Given the description of an element on the screen output the (x, y) to click on. 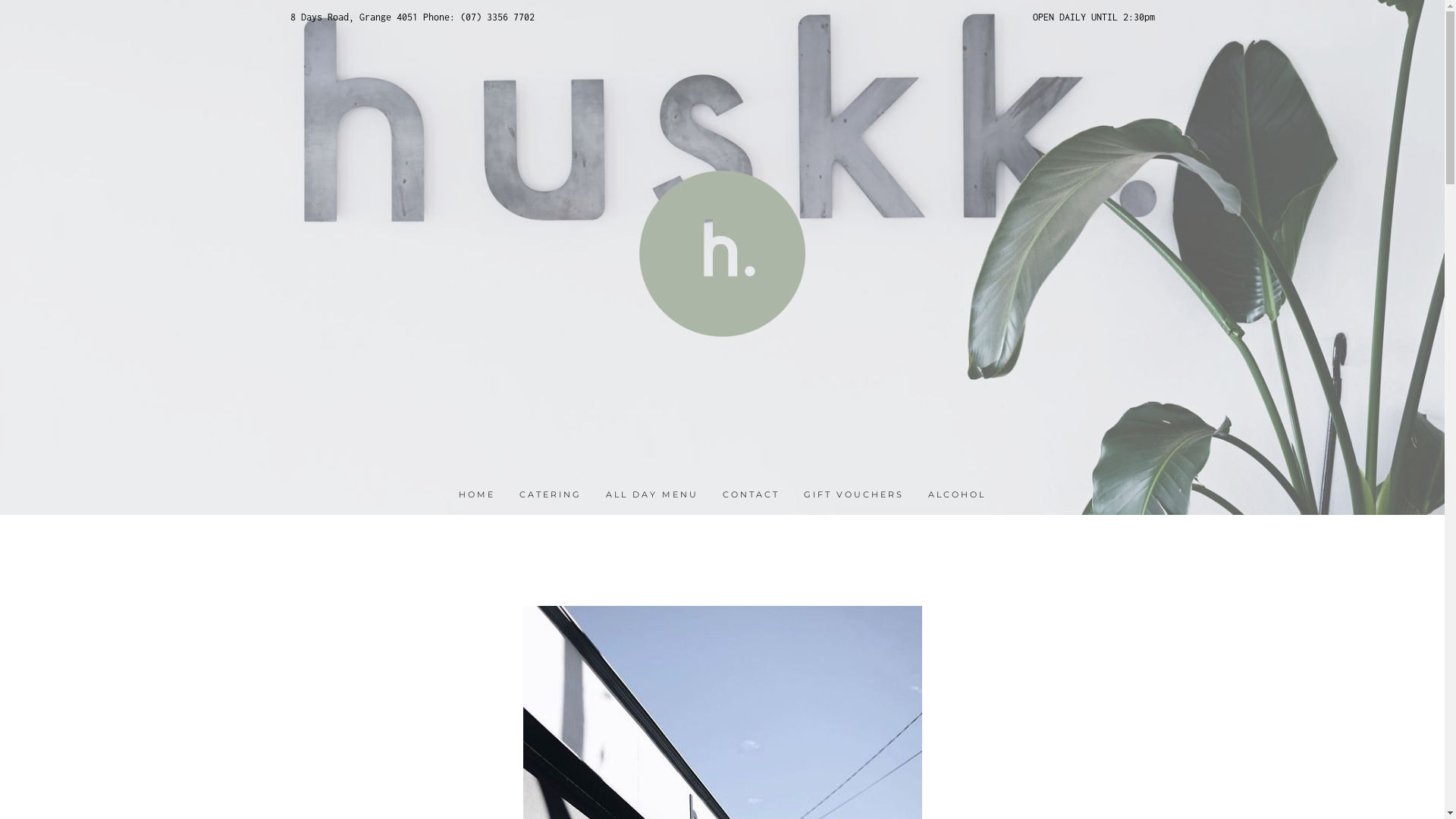
GIFT VOUCHERS Element type: text (853, 495)
CONTACT Element type: text (750, 495)
HOME Element type: text (476, 495)
ALL DAY MENU Element type: text (651, 495)
CATERING Element type: text (550, 495)
ALCOHOL Element type: text (956, 495)
